Given the description of an element on the screen output the (x, y) to click on. 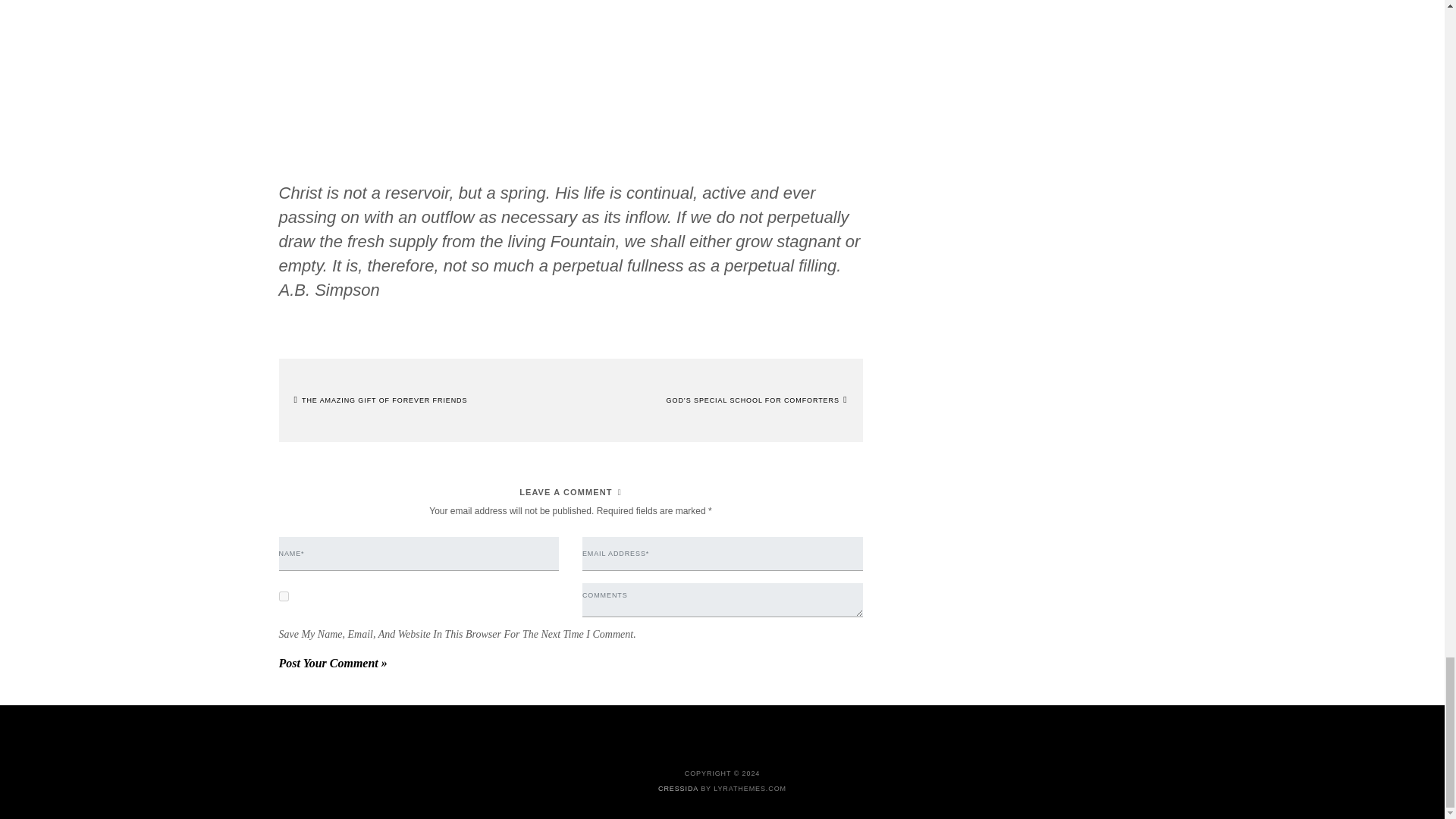
yes (283, 596)
THE AMAZING GIFT OF FOREVER FRIENDS (380, 400)
CRESSIDA (678, 788)
